Given the description of an element on the screen output the (x, y) to click on. 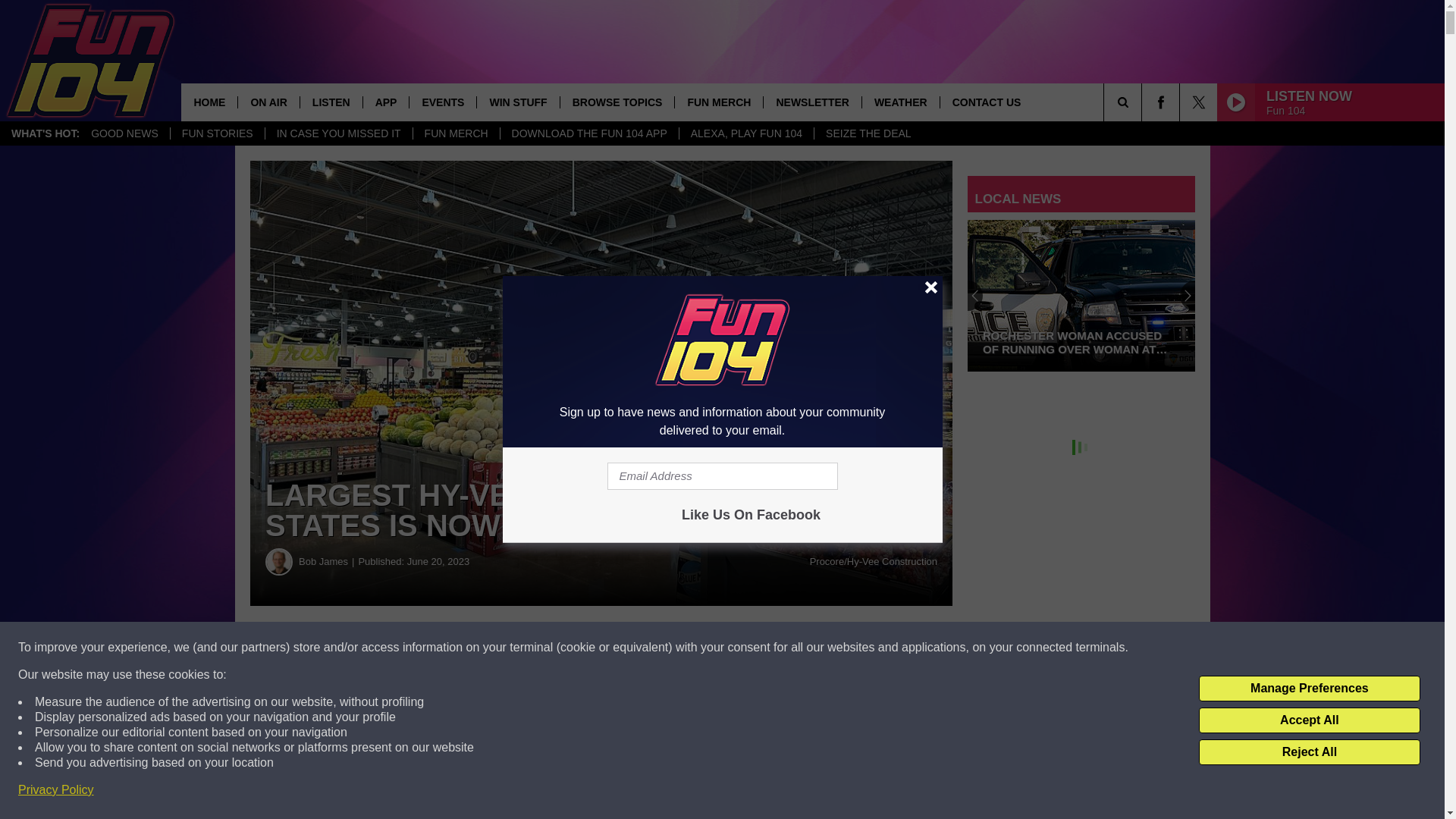
APP (385, 102)
EVENTS (442, 102)
FUN STORIES (217, 133)
Accept All (1309, 720)
WIN STUFF (517, 102)
ALEXA, PLAY FUN 104 (745, 133)
FUN MERCH (455, 133)
Email Address (722, 475)
BROWSE TOPICS (617, 102)
SEARCH (1144, 102)
GOOD NEWS (125, 133)
Reject All (1309, 751)
LISTEN (330, 102)
DOWNLOAD THE FUN 104 APP (588, 133)
SEIZE THE DEAL (868, 133)
